Given the description of an element on the screen output the (x, y) to click on. 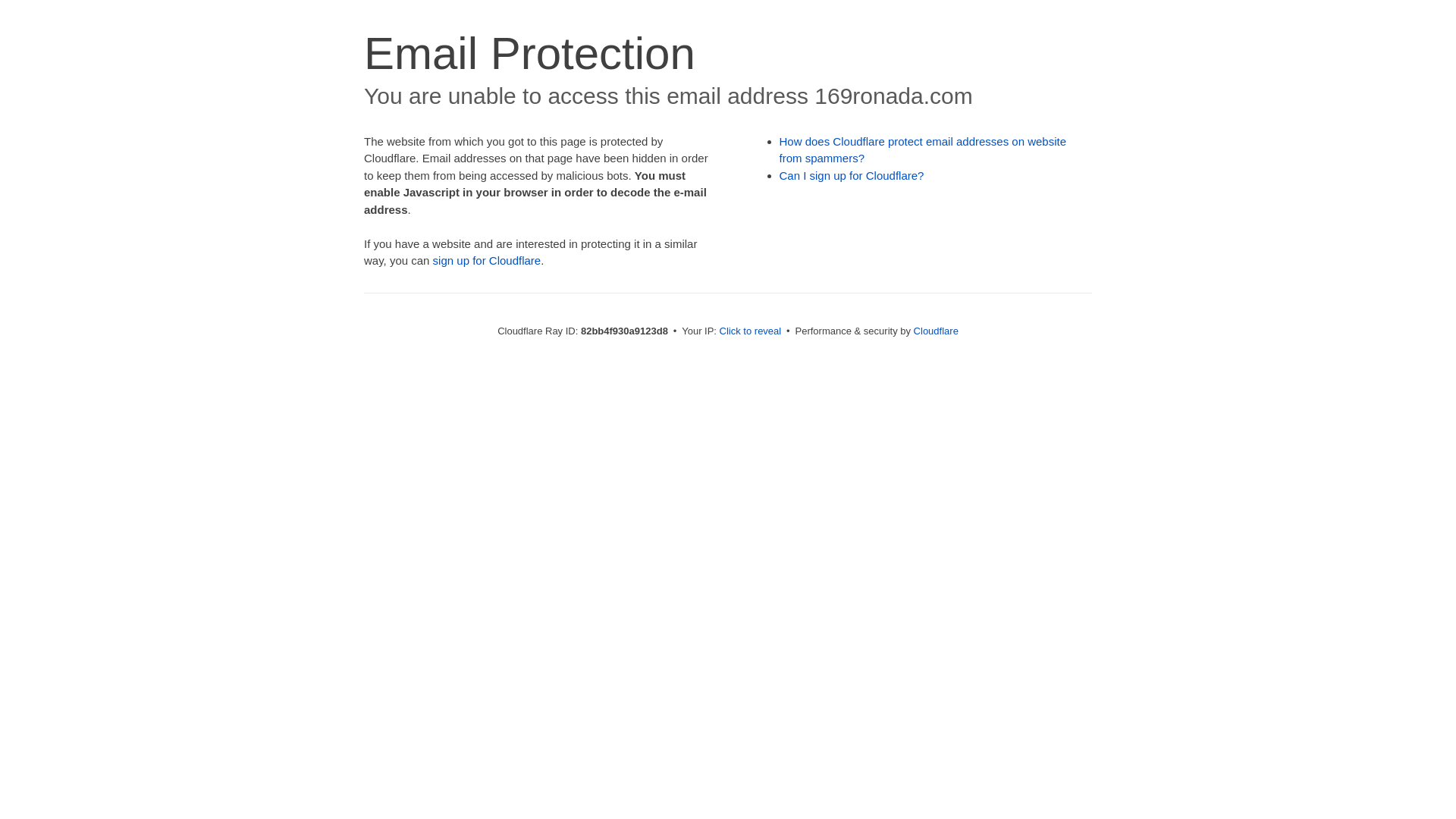
sign up for Cloudflare Element type: text (487, 260)
Click to reveal Element type: text (750, 330)
Cloudflare Element type: text (935, 330)
Can I sign up for Cloudflare? Element type: text (851, 175)
